Given the description of an element on the screen output the (x, y) to click on. 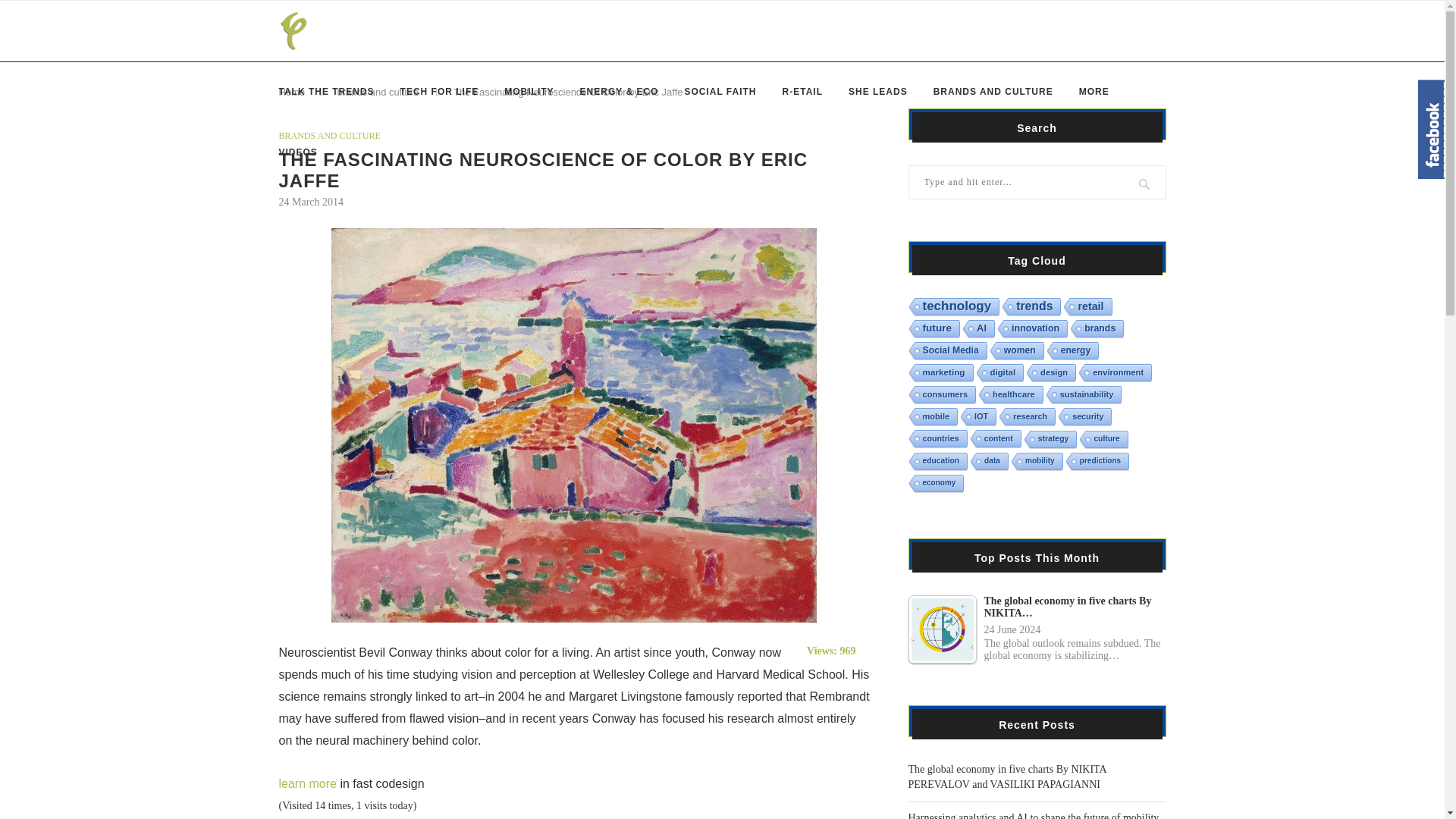
TECH FOR LIFE (439, 91)
BRANDS AND CULTURE (992, 91)
BRANDS AND CULTURE (329, 135)
View all posts in brands and culture (329, 135)
SHE LEADS (877, 91)
Home (292, 91)
SOCIAL FAITH (719, 91)
brands and culture (377, 91)
learn more (307, 783)
TALK THE TRENDS (326, 91)
